Given the description of an element on the screen output the (x, y) to click on. 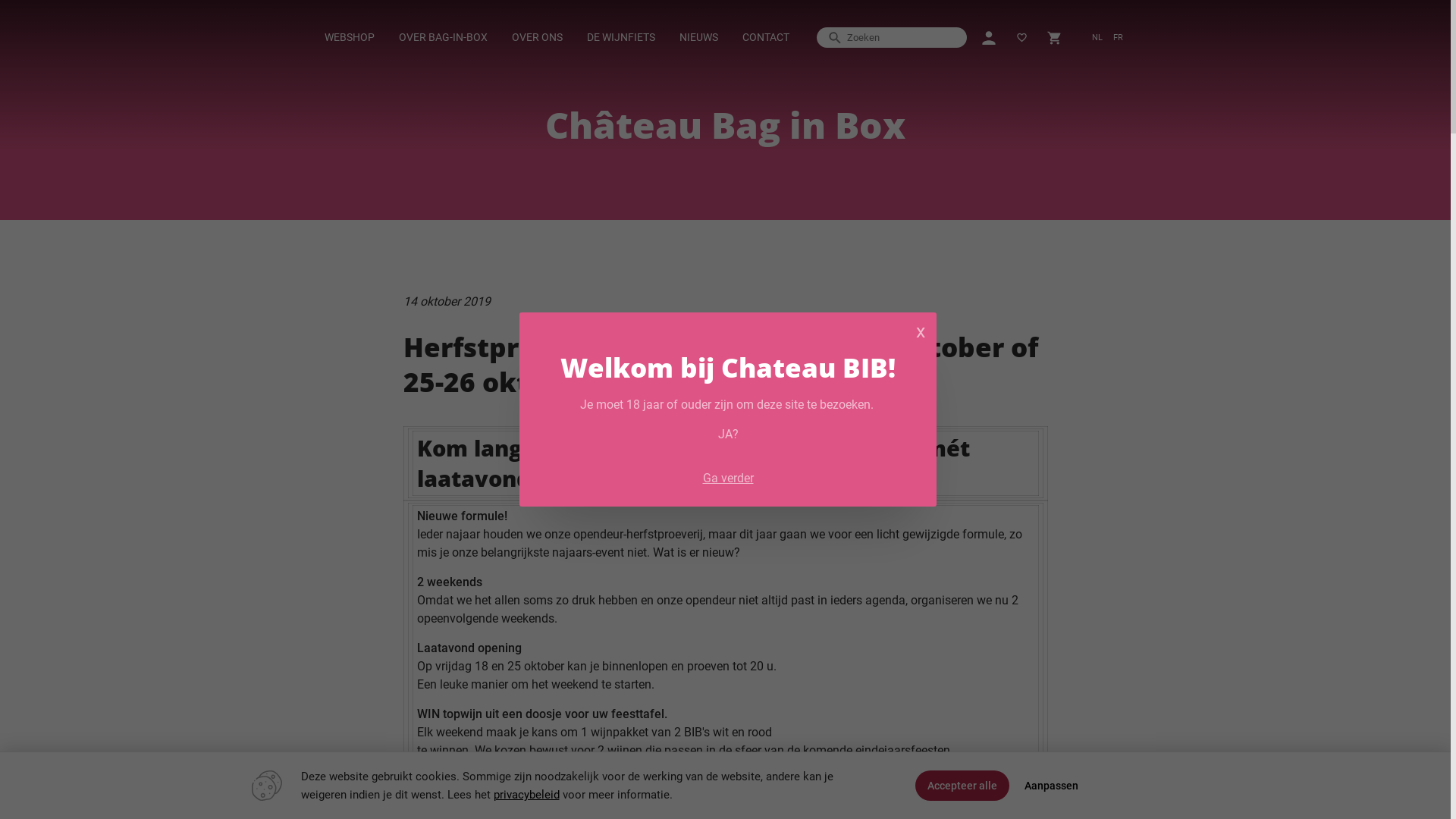
Account Element type: hover (989, 37)
Accepteer alle Element type: text (961, 785)
o Element type: text (696, 768)
DE WIJNFIETS Element type: text (621, 37)
FR Element type: text (1118, 37)
SOGNO Pecorino uit Abruzz Element type: text (619, 768)
Winkelmand Element type: hover (1054, 37)
OVER ONS Element type: text (537, 37)
privacybeleid Element type: text (525, 794)
NL Element type: text (1096, 37)
NIEUWS Element type: text (698, 37)
CONTACT Element type: text (765, 37)
Ga verder Element type: text (728, 478)
OVER BAG-IN-BOX Element type: text (443, 37)
x Element type: text (920, 330)
WEBSHOP Element type: text (349, 37)
favorite_border Element type: text (1021, 37)
Catalaanse ROJALET.  Element type: text (476, 787)
Aanpassen Element type: text (1050, 785)
